Given the description of an element on the screen output the (x, y) to click on. 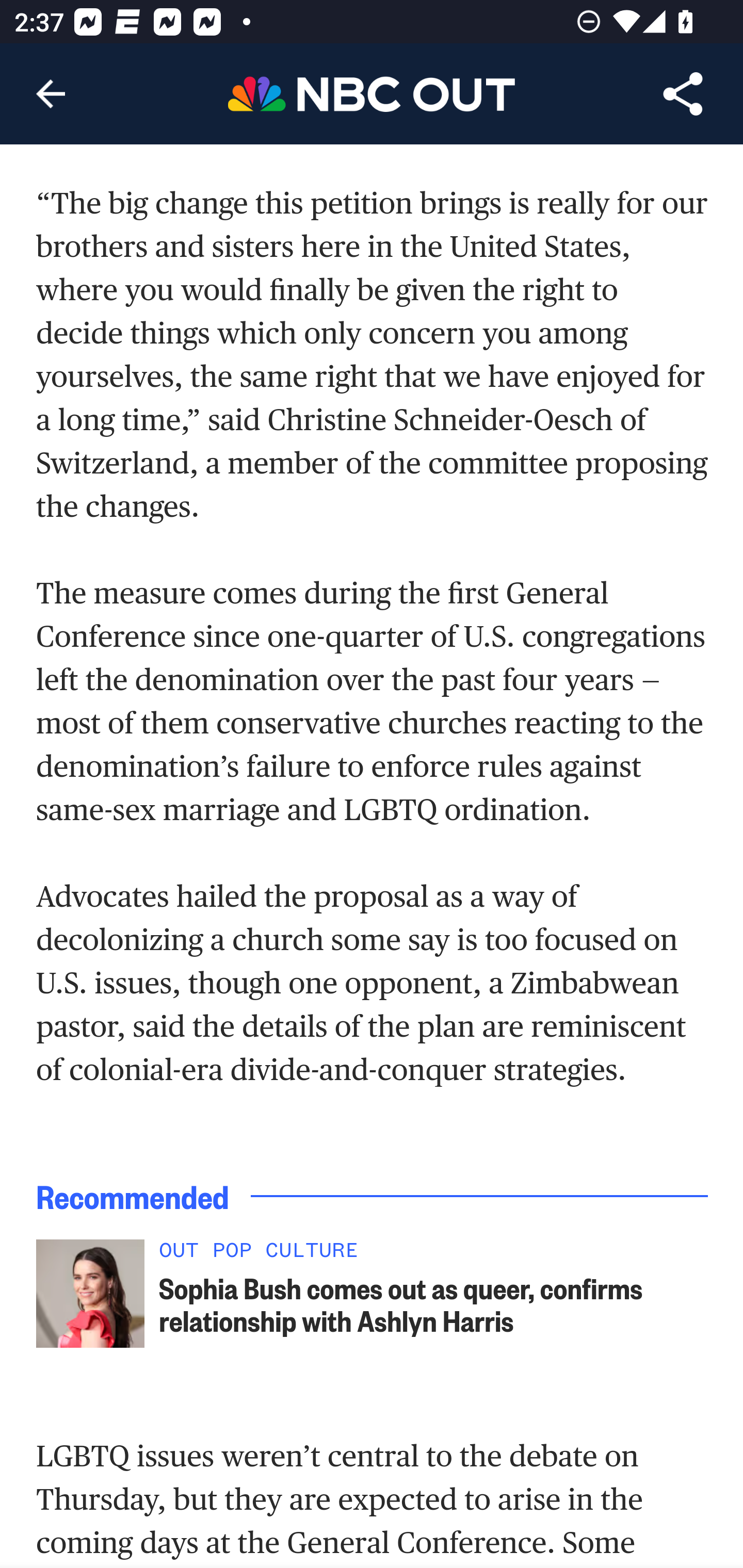
Navigate up (50, 93)
Share Article, button (683, 94)
Header, NBC Out (371, 93)
OUT POP CULTURE (434, 1254)
